Given the description of an element on the screen output the (x, y) to click on. 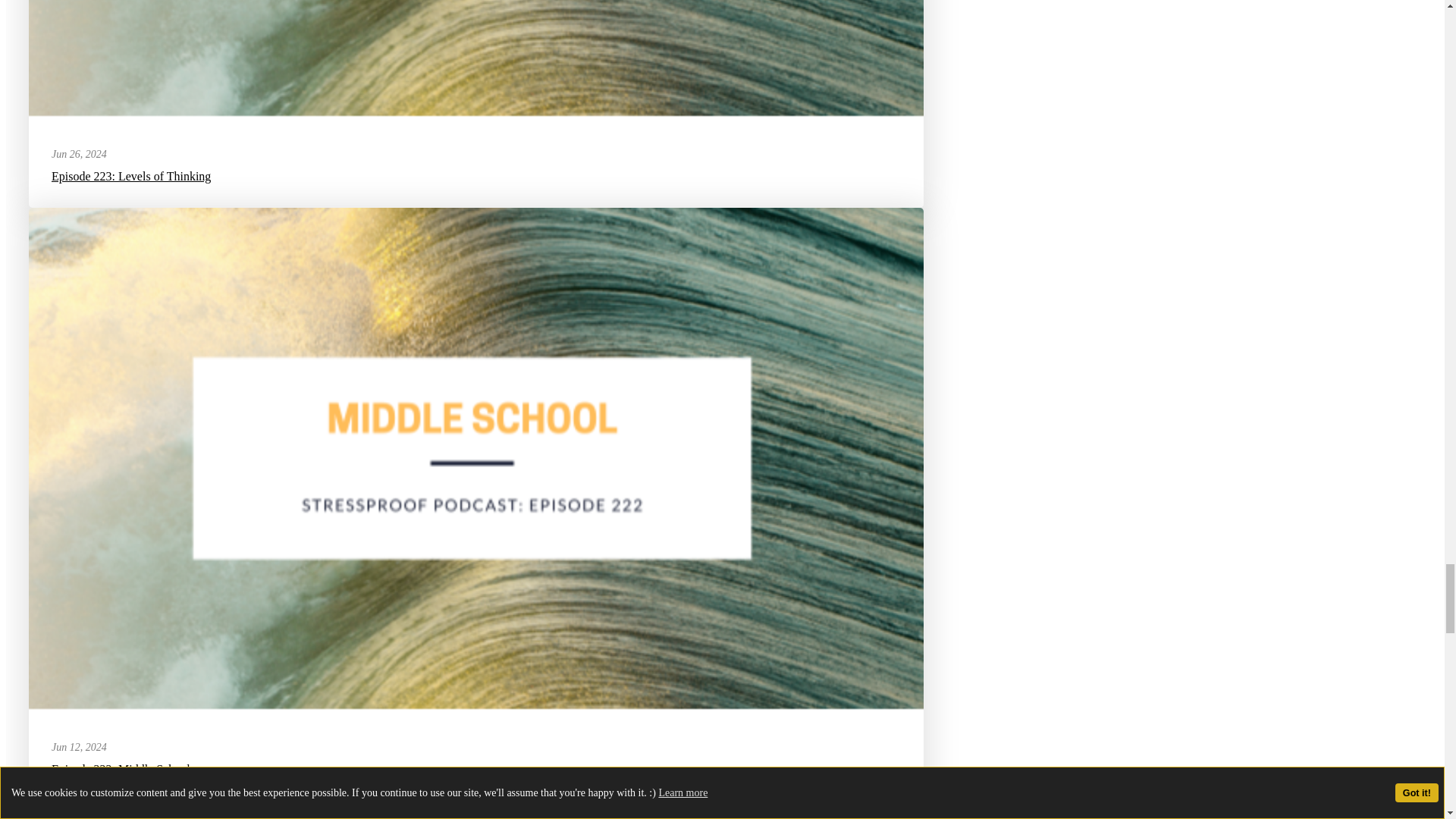
Episode 223: Levels of Thinking (130, 175)
Episode 222: Middle School (120, 768)
